Given the description of an element on the screen output the (x, y) to click on. 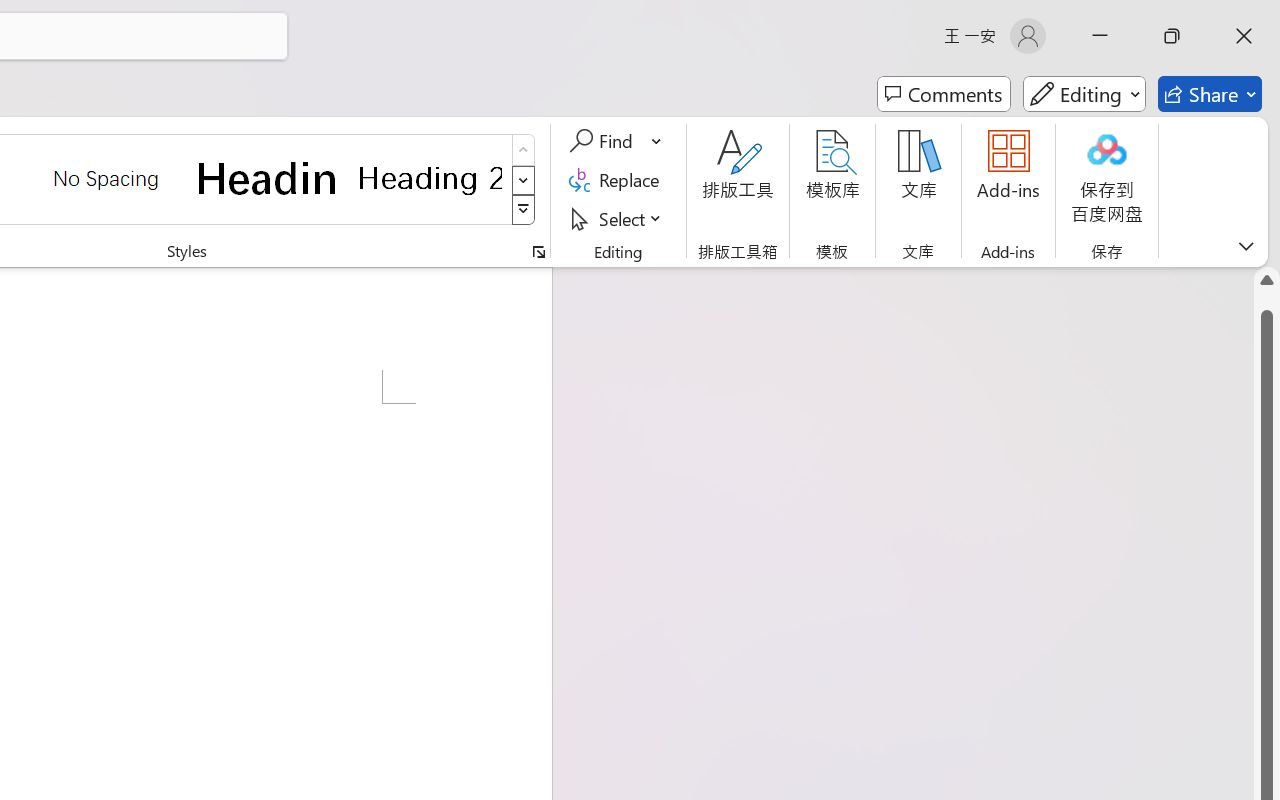
Row Down (523, 180)
Page up (1267, 301)
Row up (523, 150)
Replace... (617, 179)
Select (618, 218)
